Given the description of an element on the screen output the (x, y) to click on. 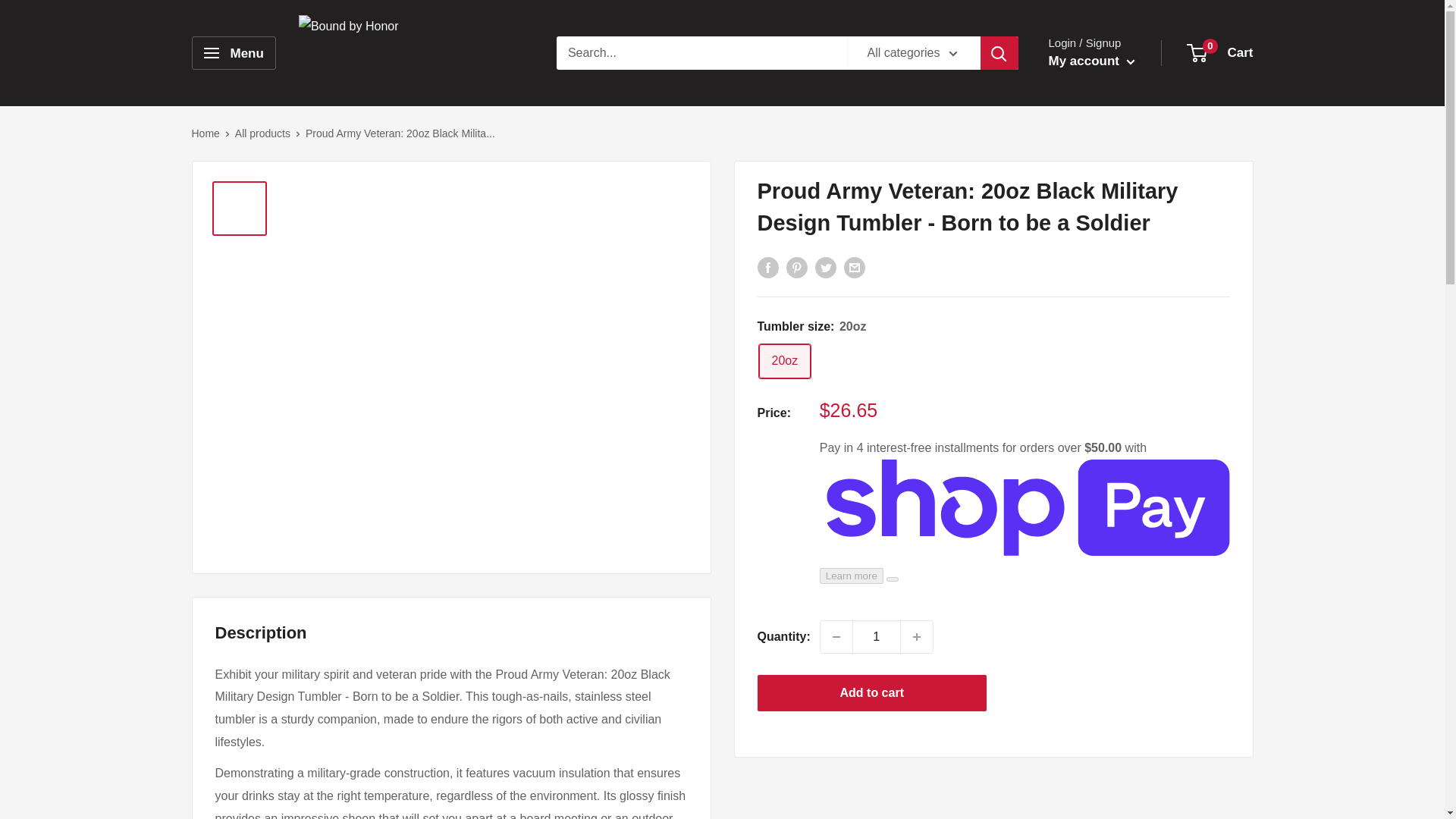
20oz (784, 360)
1 (876, 636)
Decrease quantity by 1 (836, 636)
Increase quantity by 1 (917, 636)
